Given the description of an element on the screen output the (x, y) to click on. 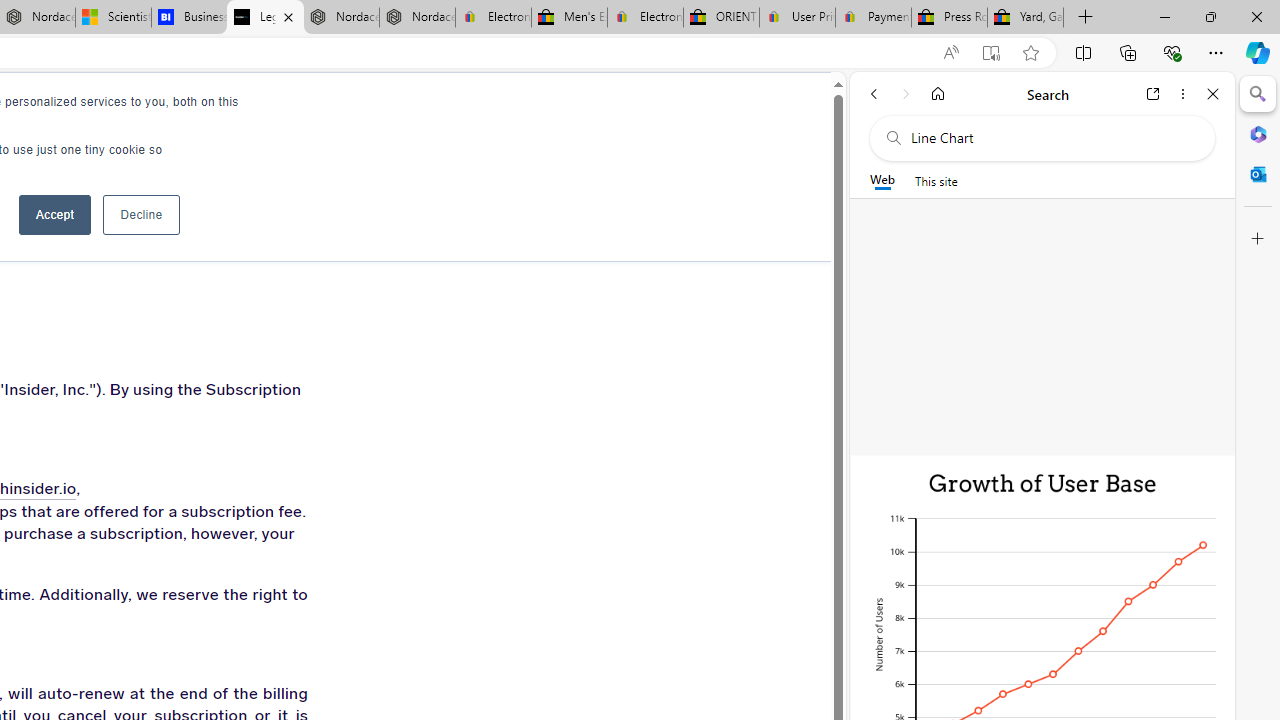
Press Room - eBay Inc. (948, 17)
CAREERS (180, 110)
Nordace - Summer Adventures 2024 (340, 17)
